Given the description of an element on the screen output the (x, y) to click on. 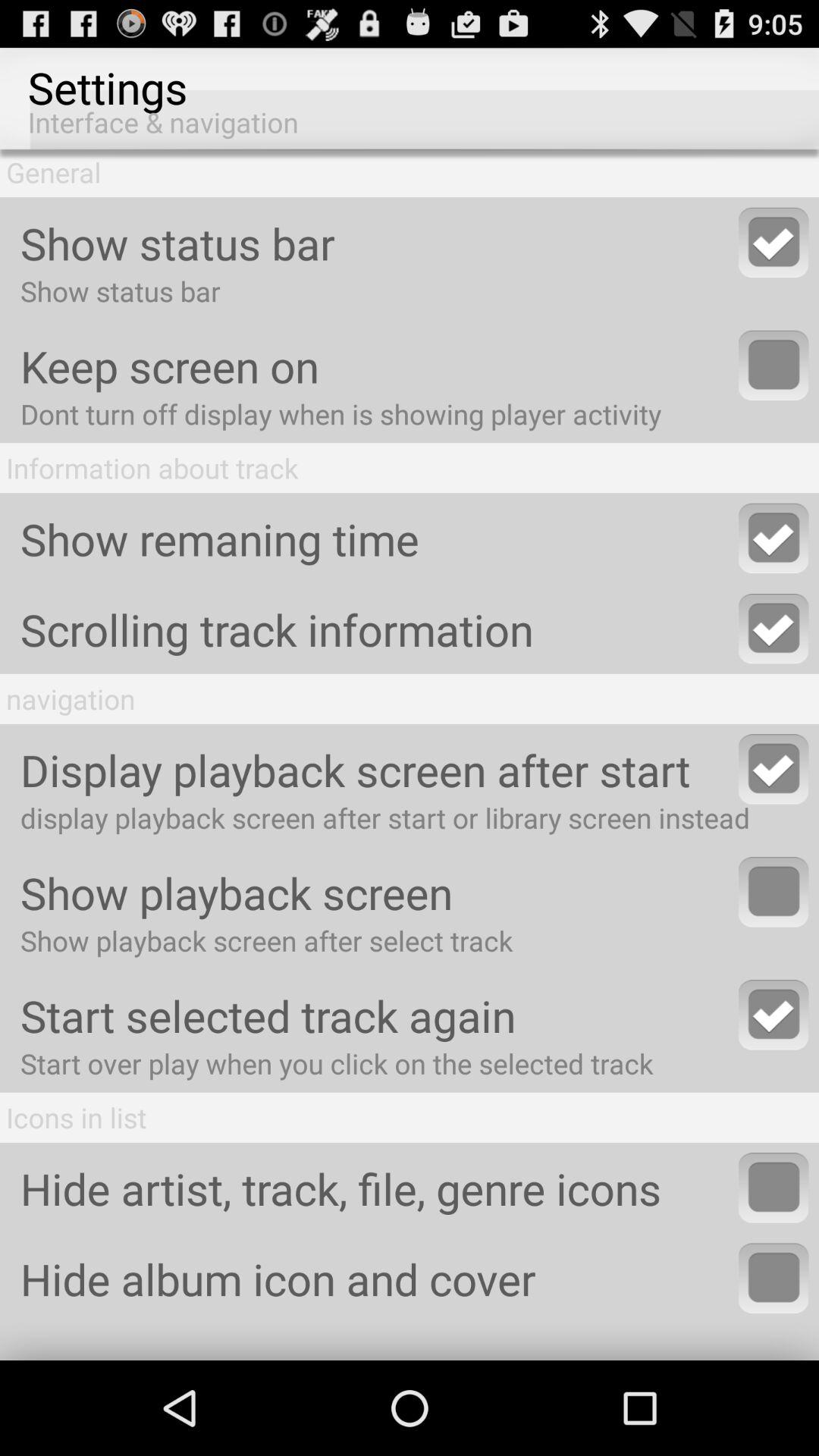
select here (773, 1187)
